Given the description of an element on the screen output the (x, y) to click on. 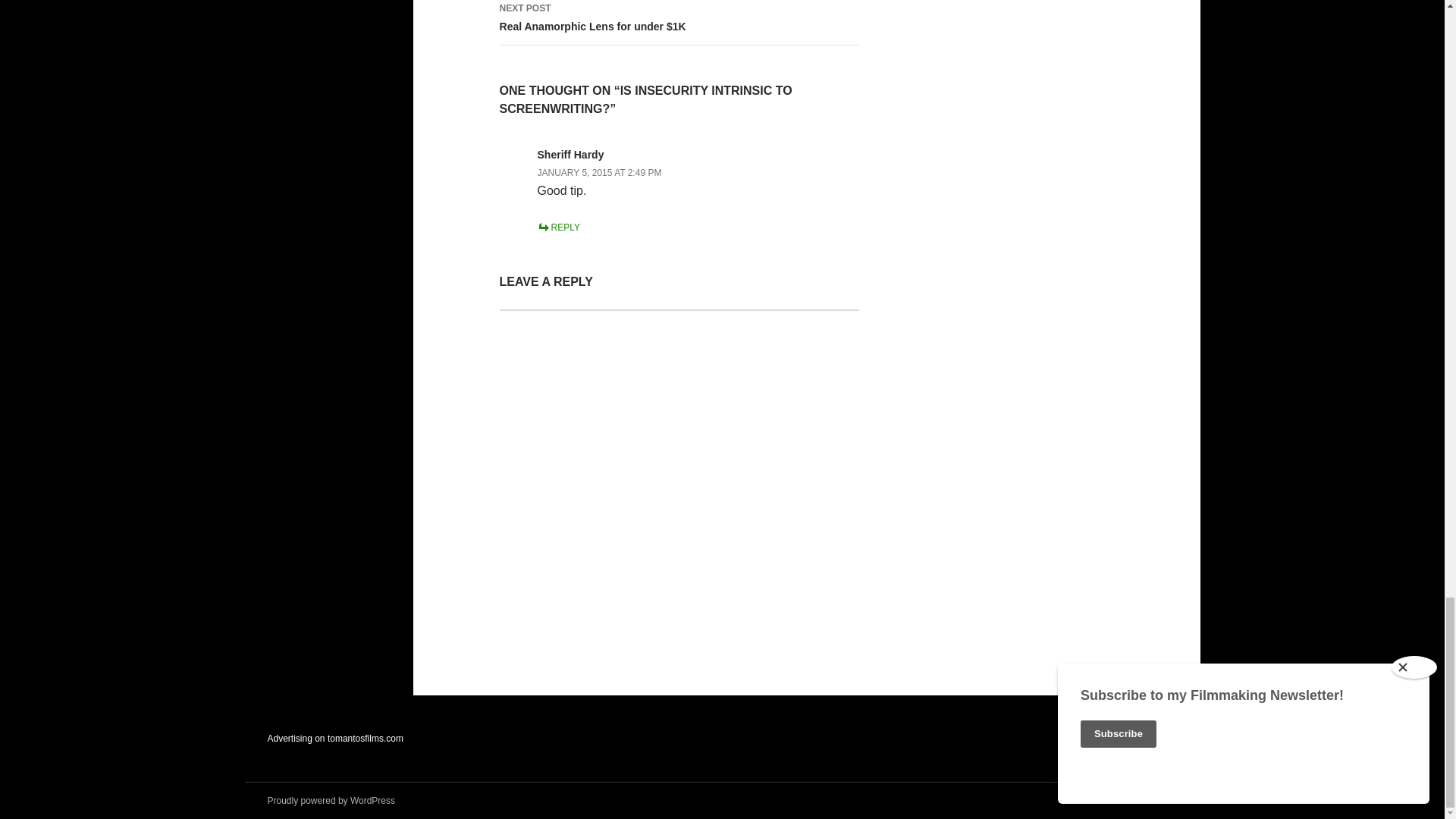
Comment Form (679, 472)
